Given the description of an element on the screen output the (x, y) to click on. 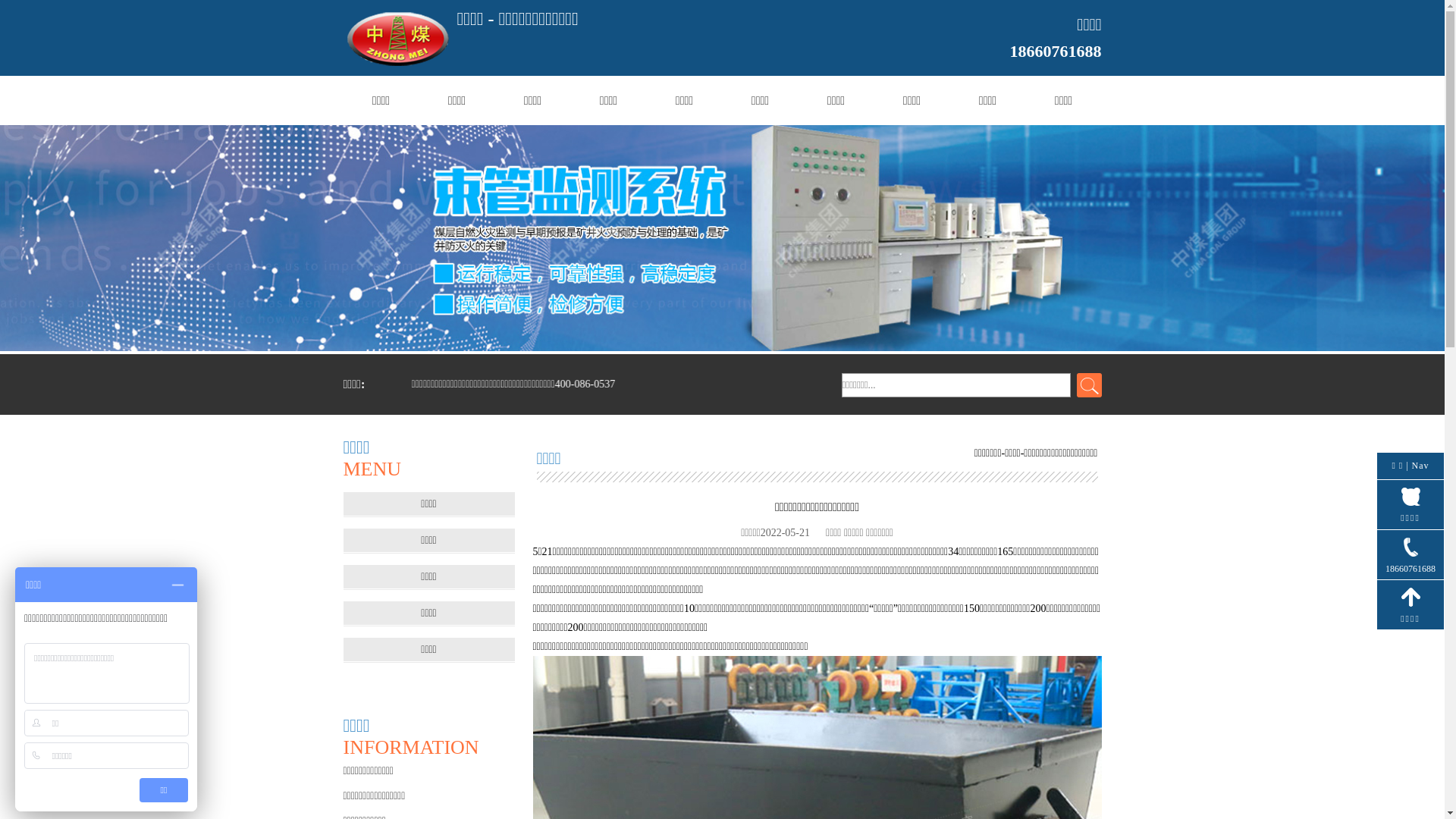
18660761688 Element type: text (1410, 555)
